Given the description of an element on the screen output the (x, y) to click on. 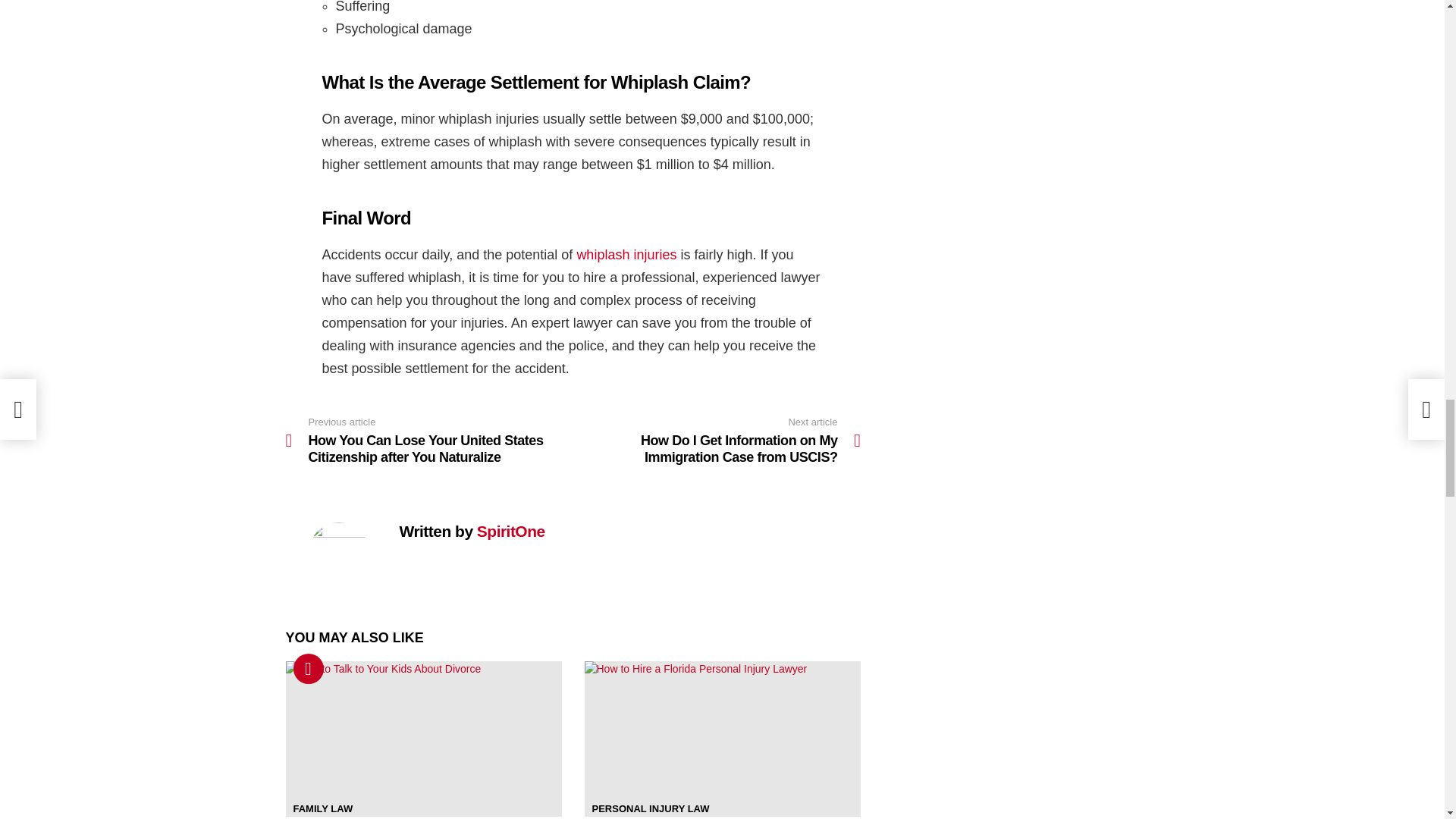
SpiritOne (510, 529)
How to Hire a Florida Personal Injury Lawyer (721, 738)
How to Talk to Your Kids About Divorce (422, 738)
whiplash injuries (626, 254)
Hot (307, 668)
FAMILY LAW (322, 808)
